Given the description of an element on the screen output the (x, y) to click on. 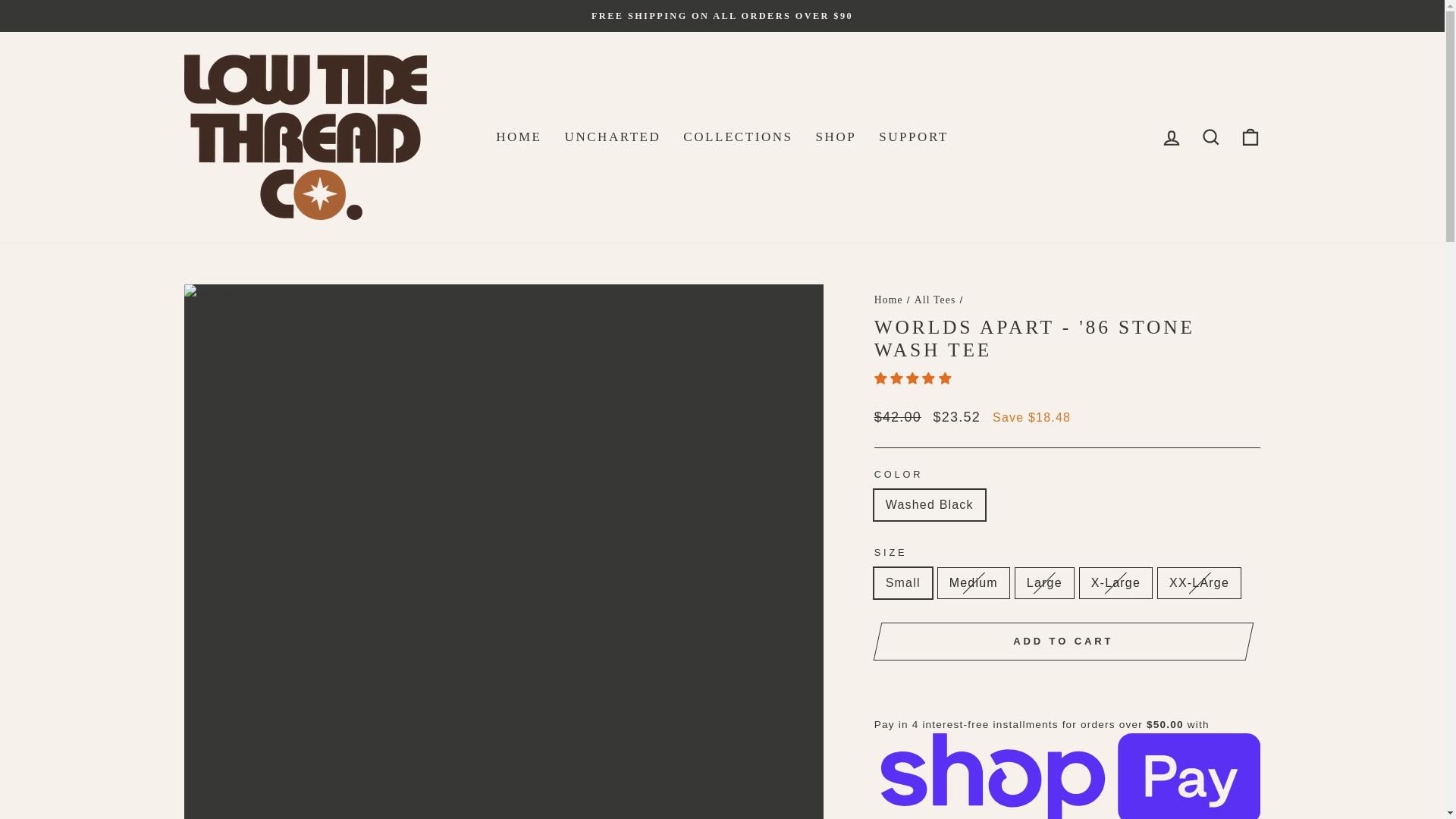
Back to the frontpage (888, 299)
